Given the description of an element on the screen output the (x, y) to click on. 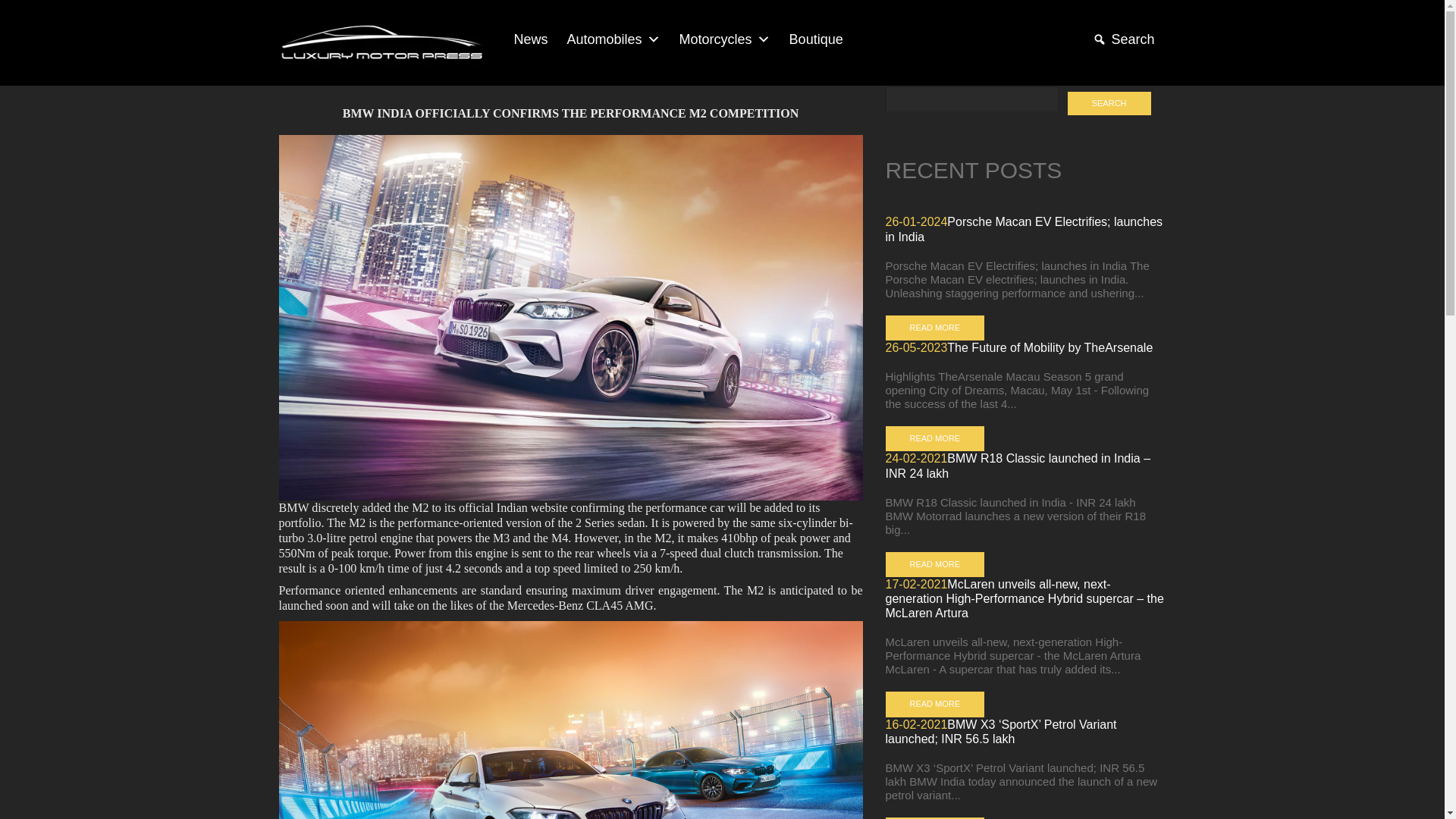
News (528, 39)
Boutique (814, 39)
search (1109, 103)
search (1109, 103)
Motorcycles (722, 39)
Automobiles (611, 39)
Search (1120, 39)
Epic Journeys (381, 42)
